Given the description of an element on the screen output the (x, y) to click on. 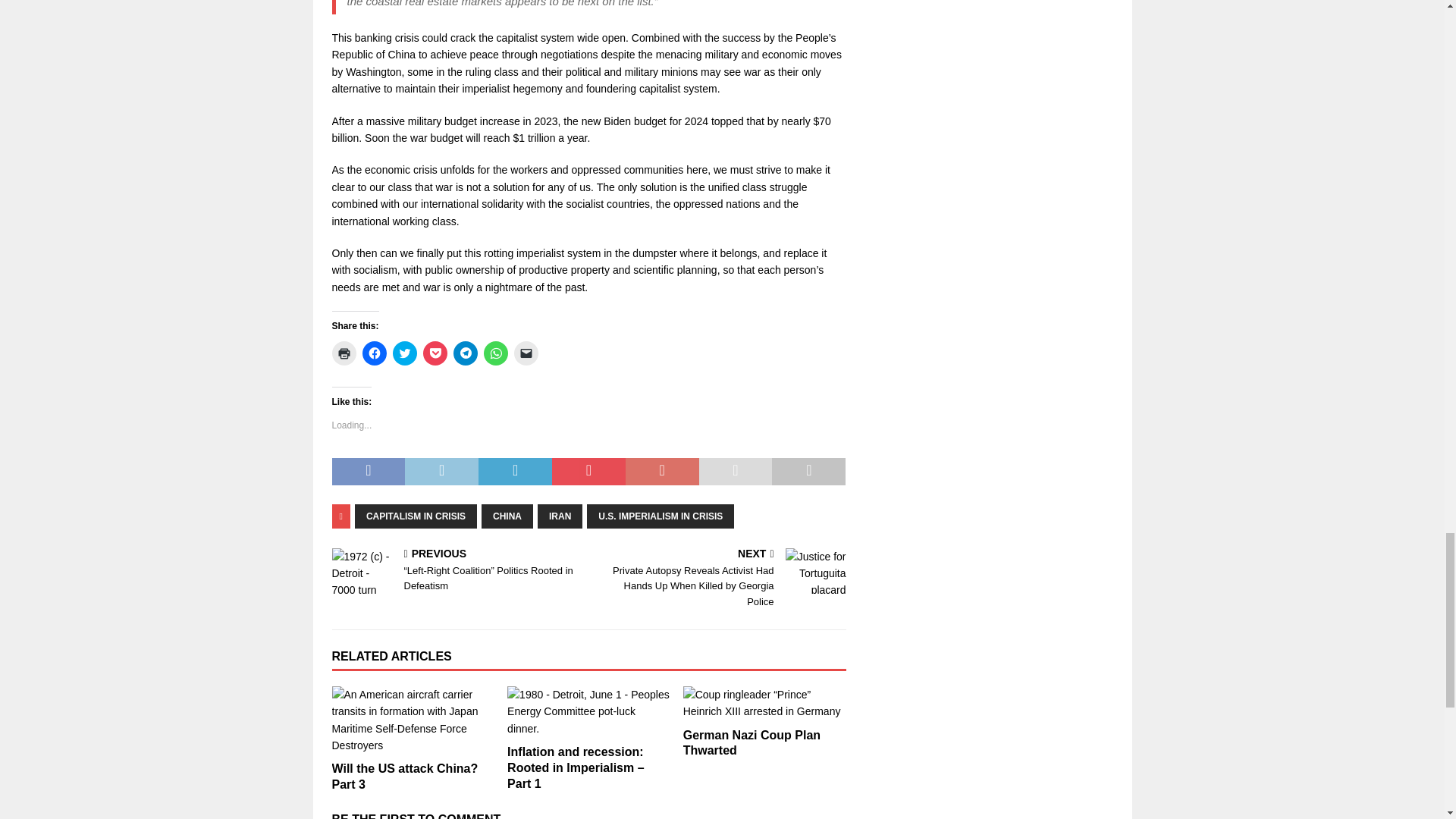
U.S. IMPERIALISM IN CRISIS (659, 516)
Click to share on Facebook (374, 353)
CHINA (506, 516)
Click to share on Telegram (464, 353)
Click to share on WhatsApp (495, 353)
Click to share on Twitter (404, 353)
CAPITALISM IN CRISIS (416, 516)
Click to share on Pocket (434, 353)
IRAN (559, 516)
Click to print (343, 353)
